Given the description of an element on the screen output the (x, y) to click on. 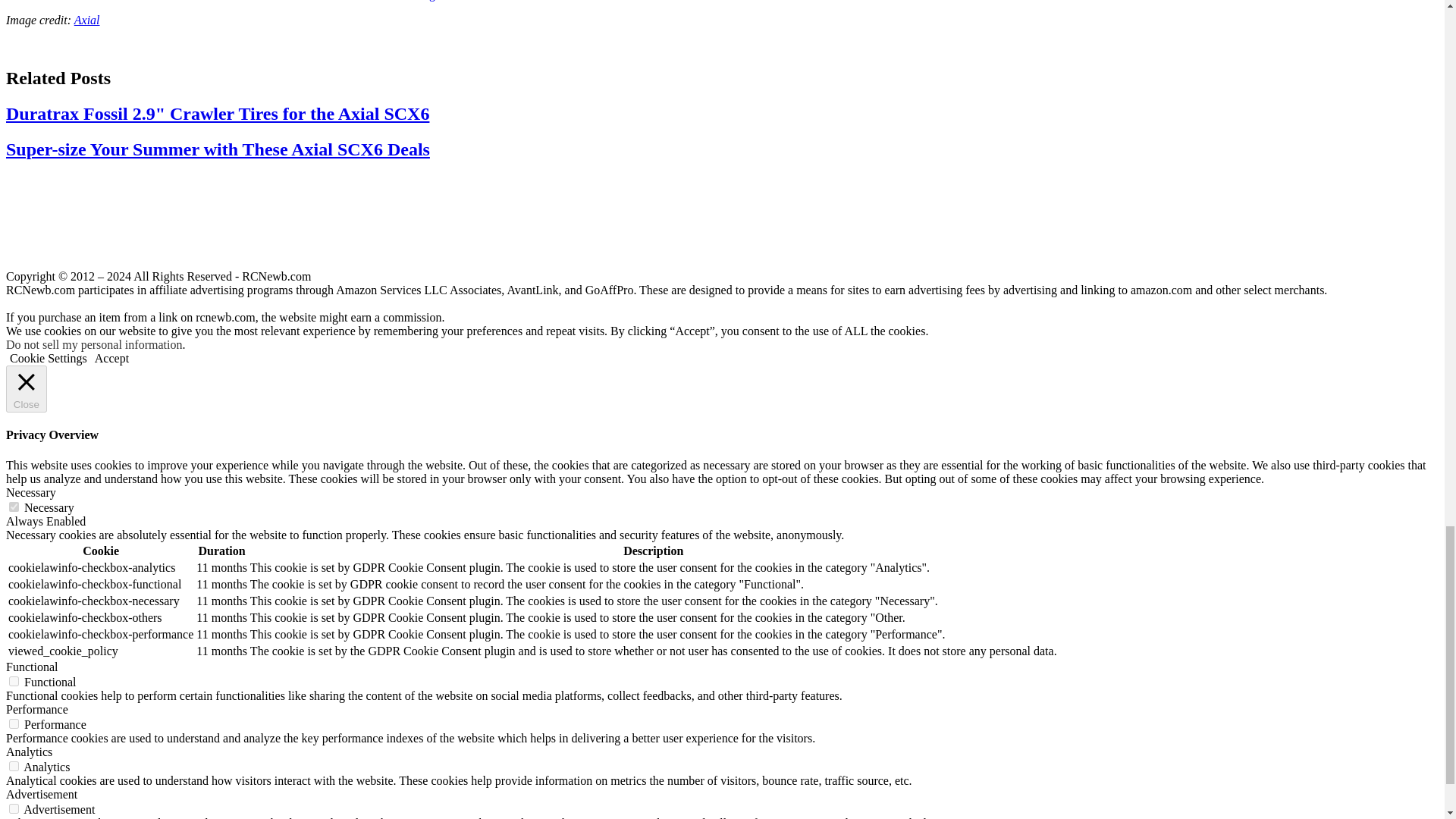
Cookie Settings (48, 358)
on (13, 723)
on (13, 766)
on (13, 808)
on (13, 681)
on (13, 506)
Accept (111, 358)
Axial (87, 19)
Do not sell my personal information (93, 344)
